Given the description of an element on the screen output the (x, y) to click on. 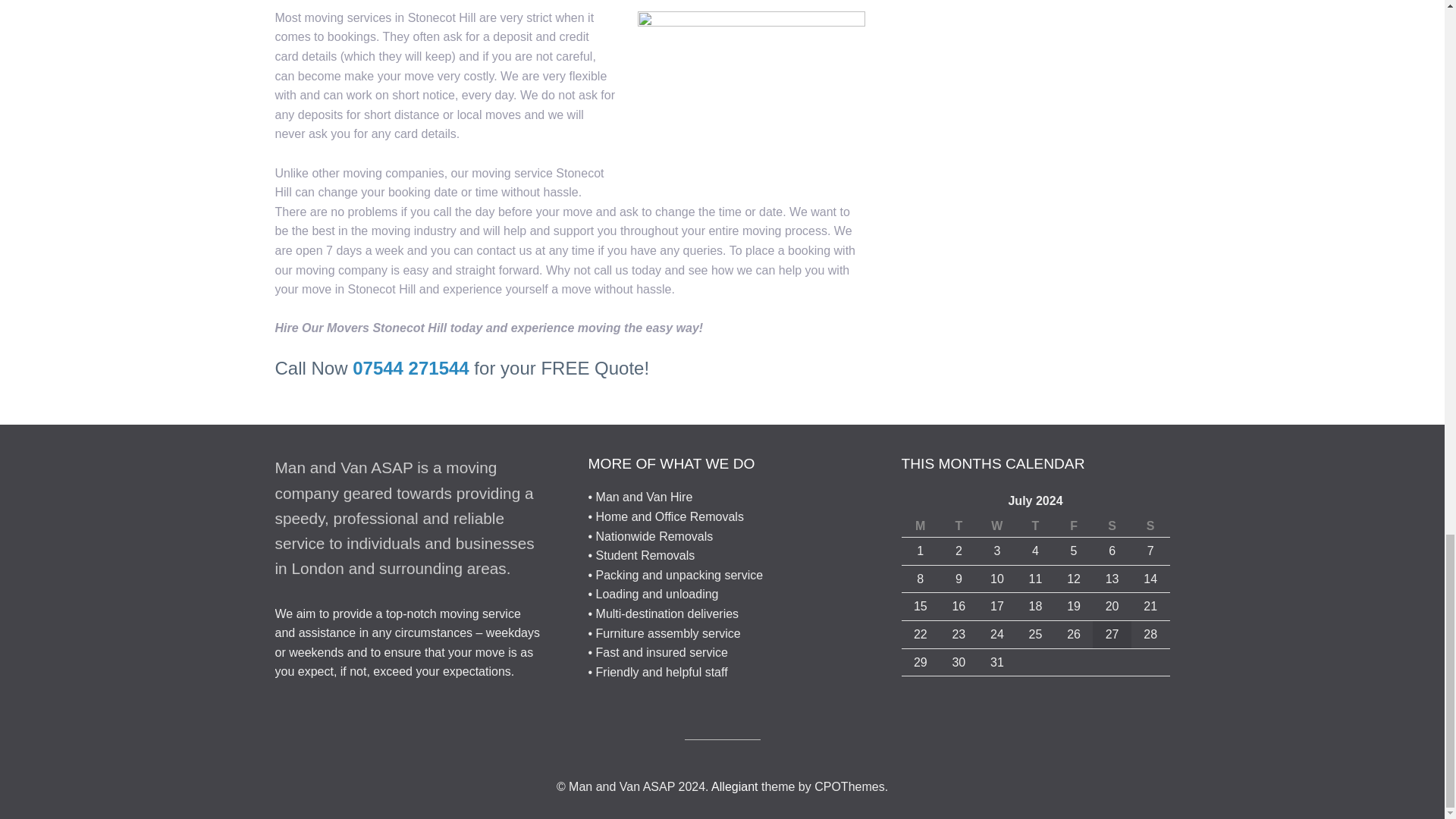
Thursday (1035, 526)
Tuesday (958, 526)
Friday (1073, 526)
07544 271544 (410, 367)
Wednesday (997, 526)
Monday (920, 526)
Allegiant (734, 786)
Saturday (1112, 526)
Sunday (1150, 526)
